Given the description of an element on the screen output the (x, y) to click on. 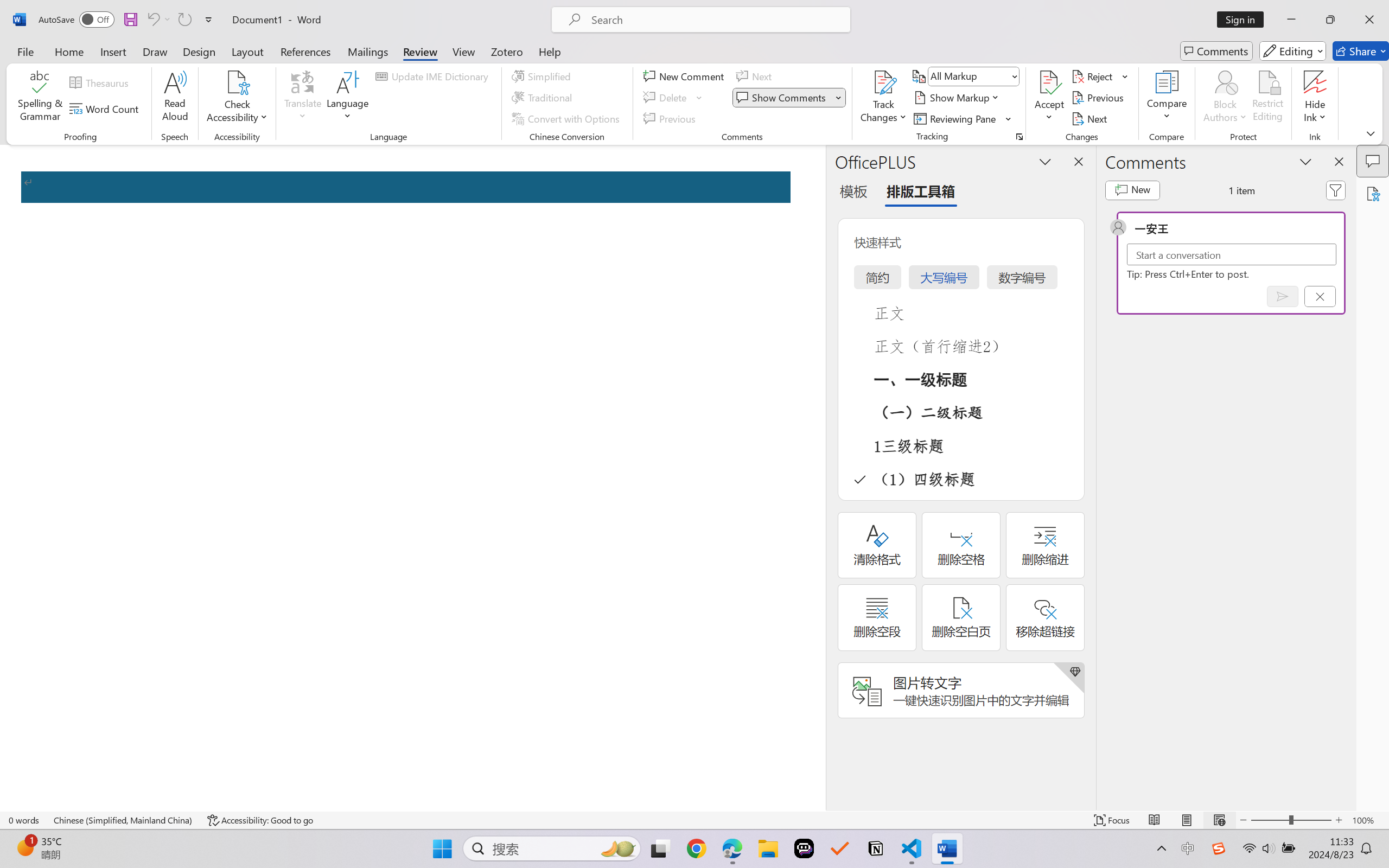
Repeat Accessibility Checker (184, 19)
Convert with Options... (567, 118)
Word Count (105, 108)
Show Comments (782, 97)
Reject (1100, 75)
